Given the description of an element on the screen output the (x, y) to click on. 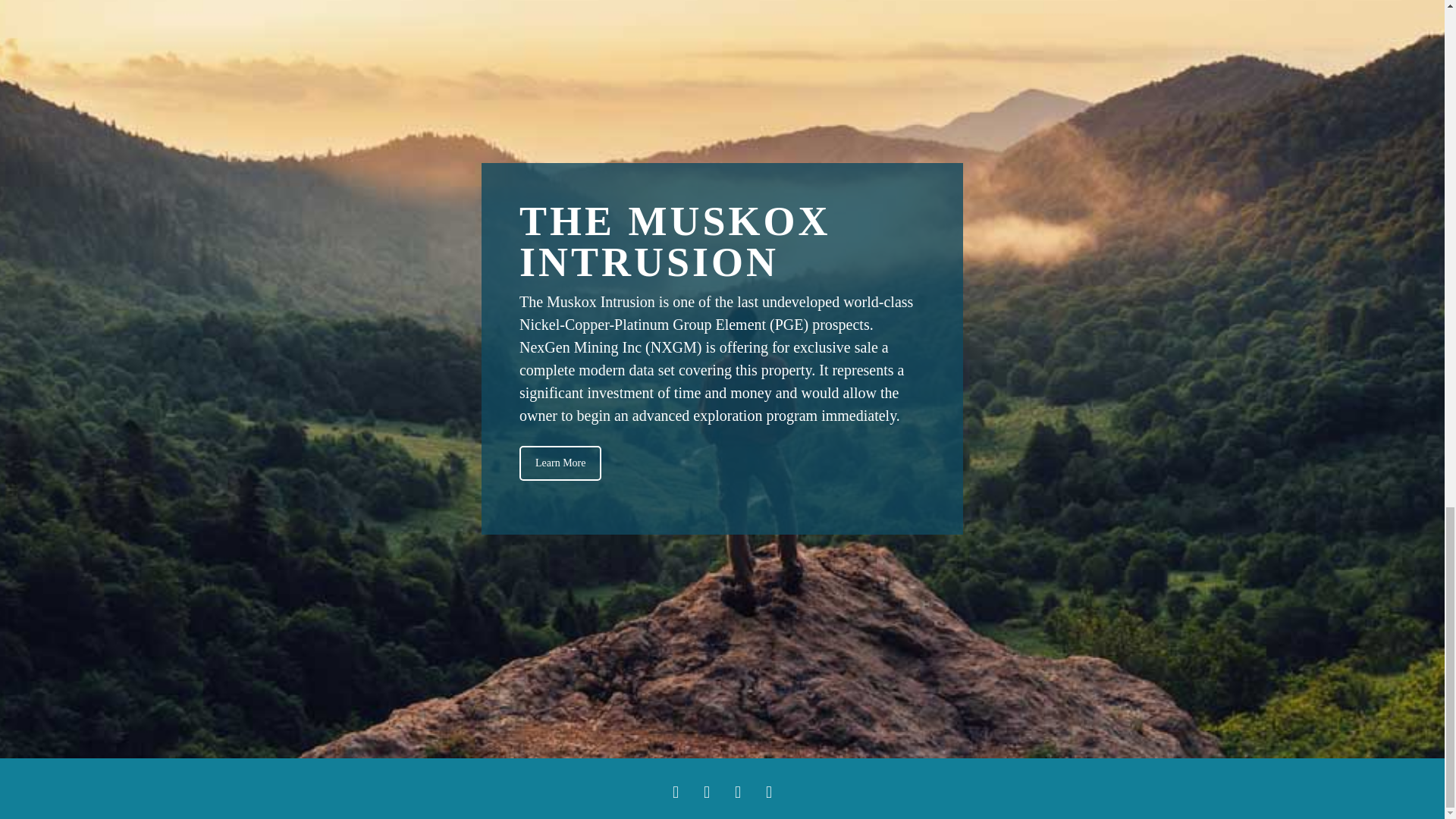
Learn More (560, 462)
